Given the description of an element on the screen output the (x, y) to click on. 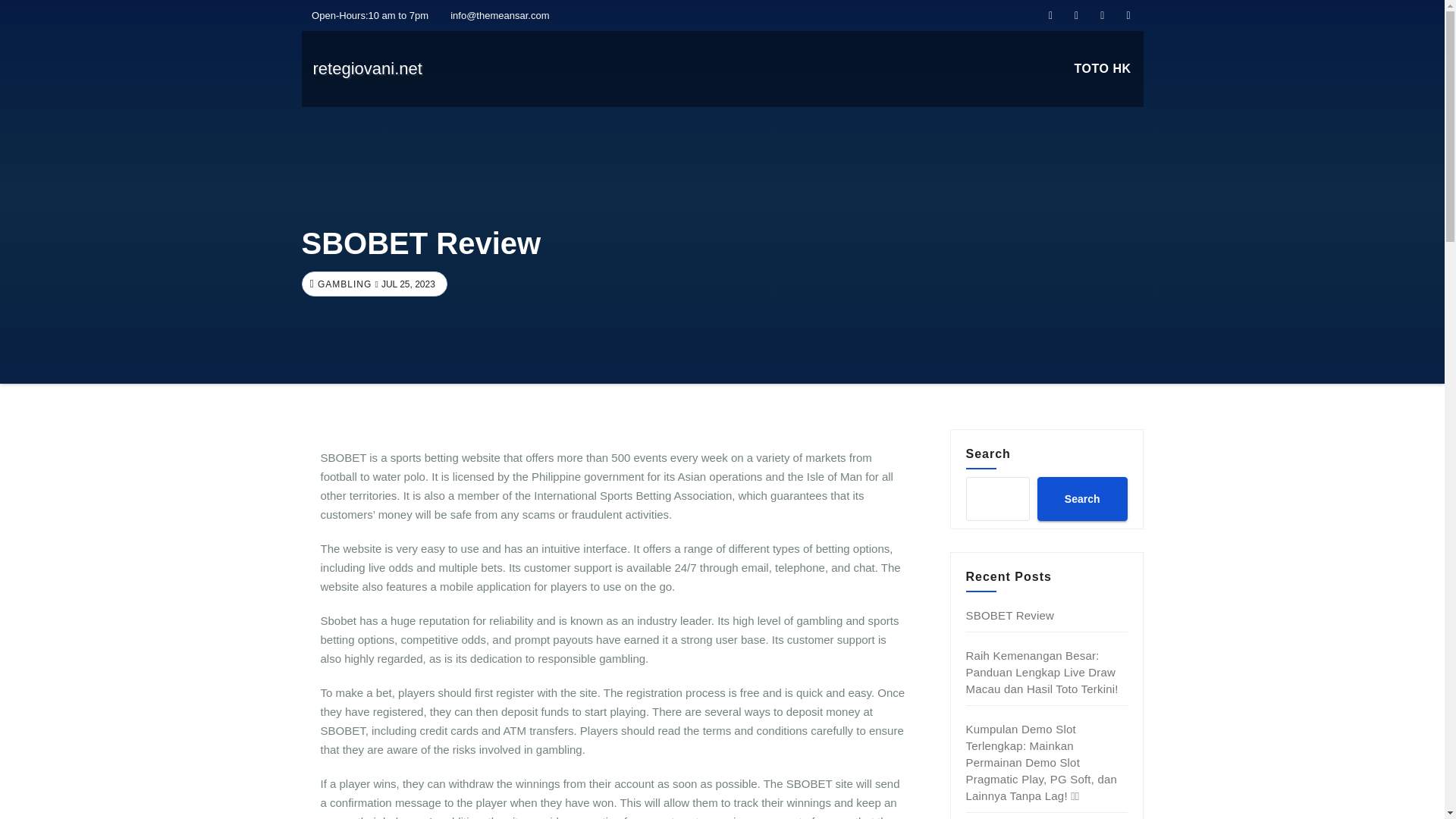
Open-Hours:10 am to 7pm (365, 15)
SBOBET Review (1010, 615)
TOTO HK (1102, 69)
Search (1081, 498)
GAMBLING (342, 284)
retegiovani.net (367, 68)
Toto Hk (1102, 69)
